Given the description of an element on the screen output the (x, y) to click on. 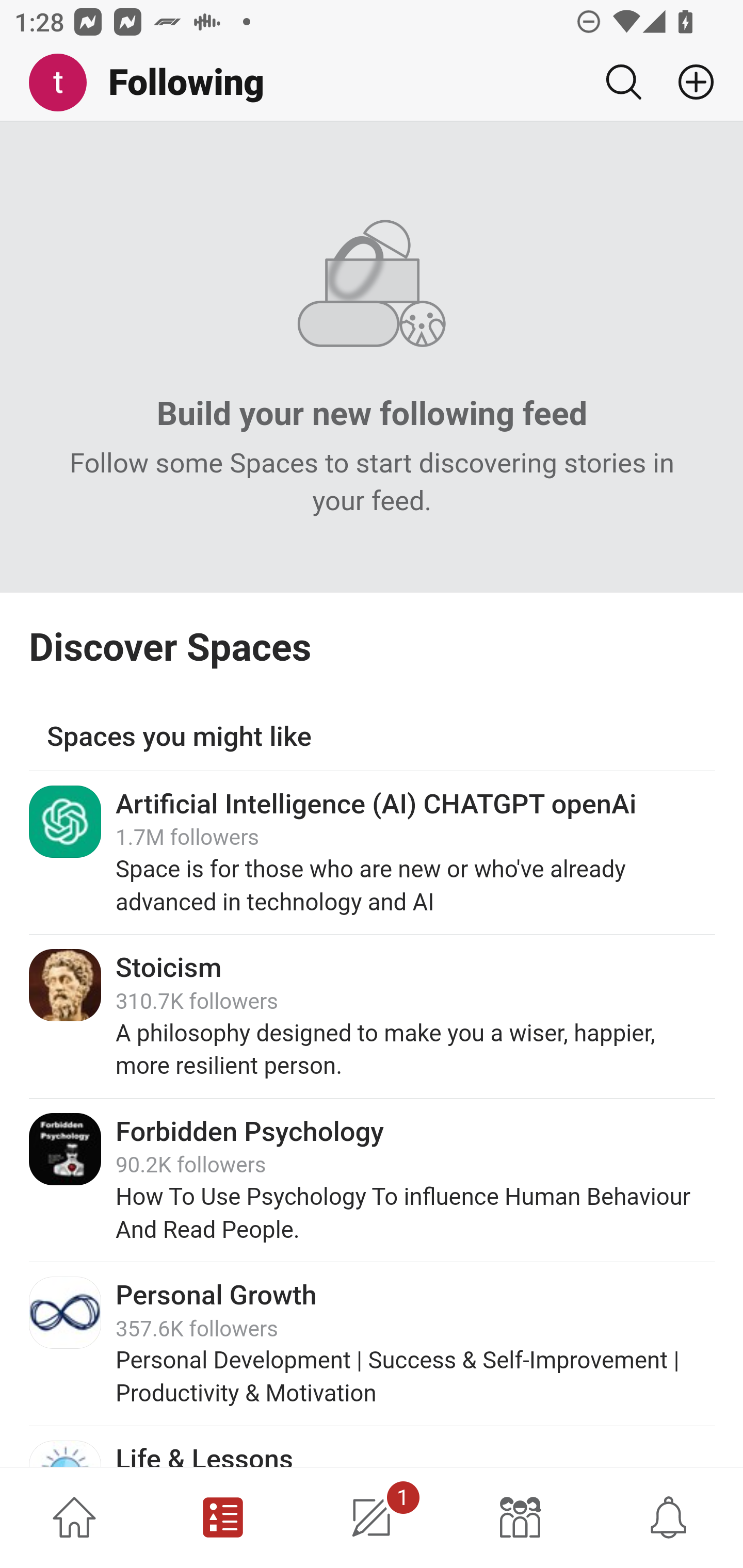
Me (64, 83)
Search (623, 82)
Add (688, 82)
1 (371, 1517)
